Given the description of an element on the screen output the (x, y) to click on. 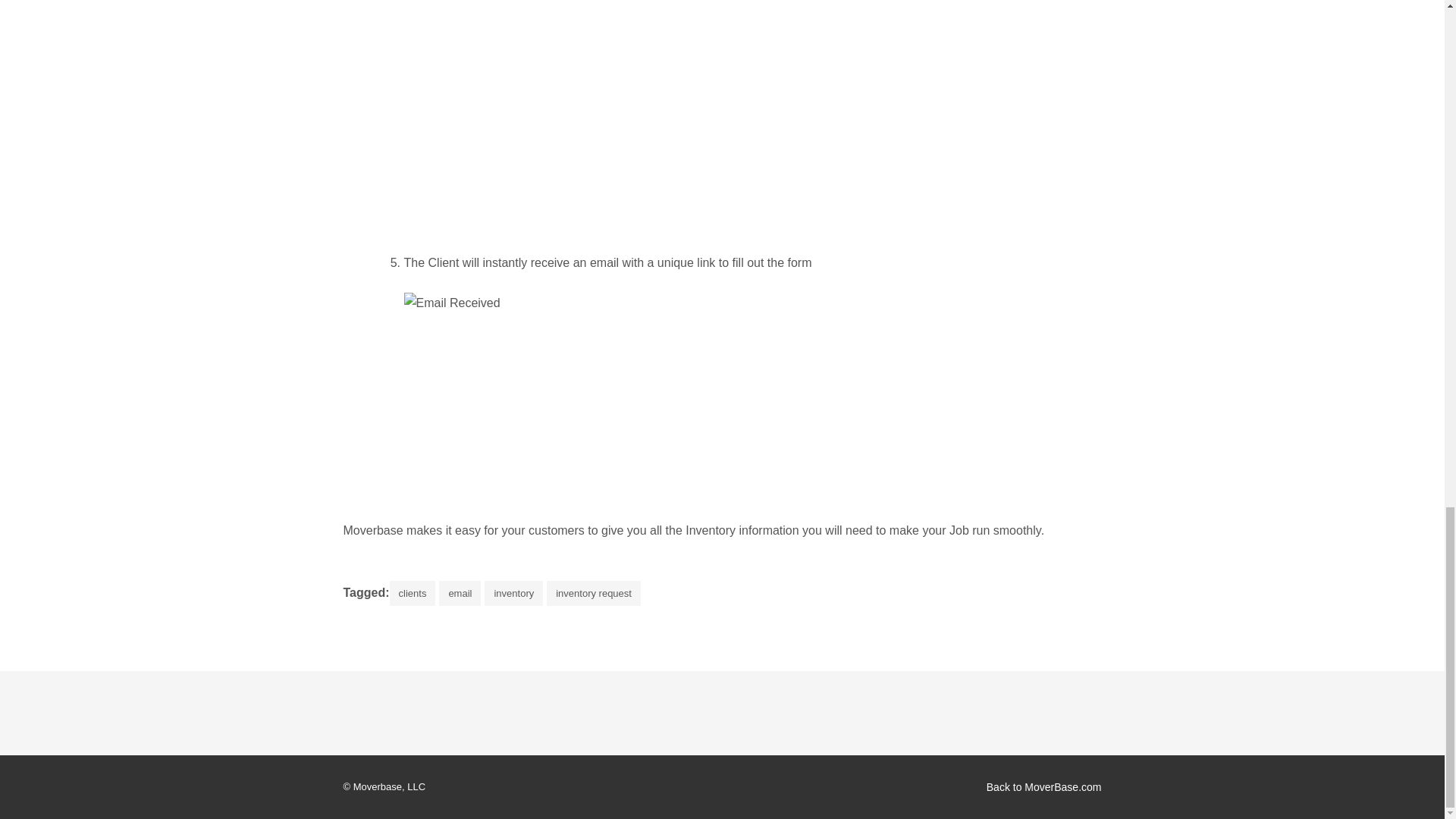
inventory (513, 593)
email (459, 593)
inventory request (593, 593)
Back to MoverBase.com (1044, 787)
clients (412, 593)
